Given the description of an element on the screen output the (x, y) to click on. 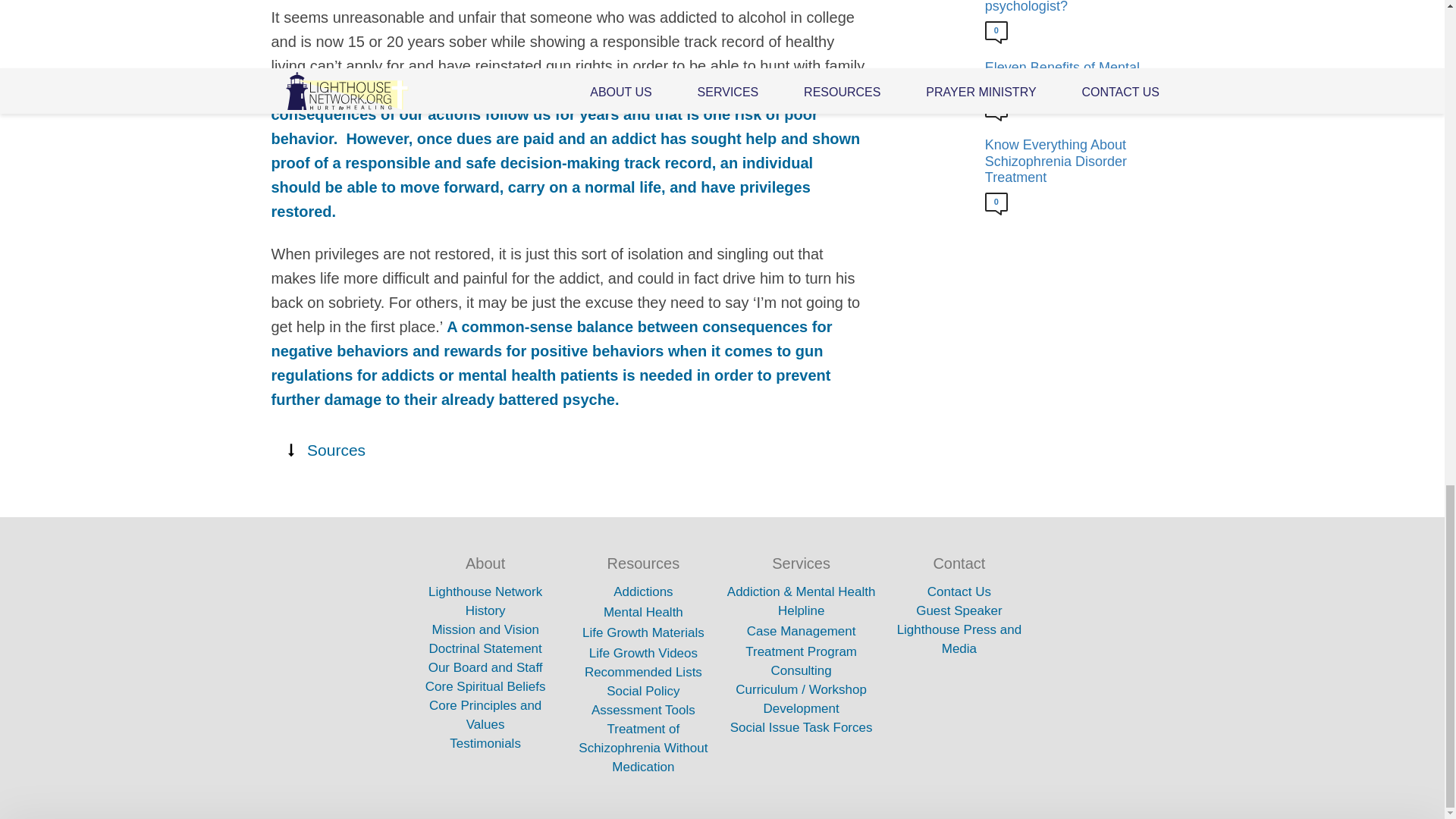
Eleven Benefits of Mental Health Counselling (1075, 75)
Six Reasons to Consult a psychologist? (1075, 7)
Know Everything About Schizophrenia Disorder Treatment (1075, 161)
